Given the description of an element on the screen output the (x, y) to click on. 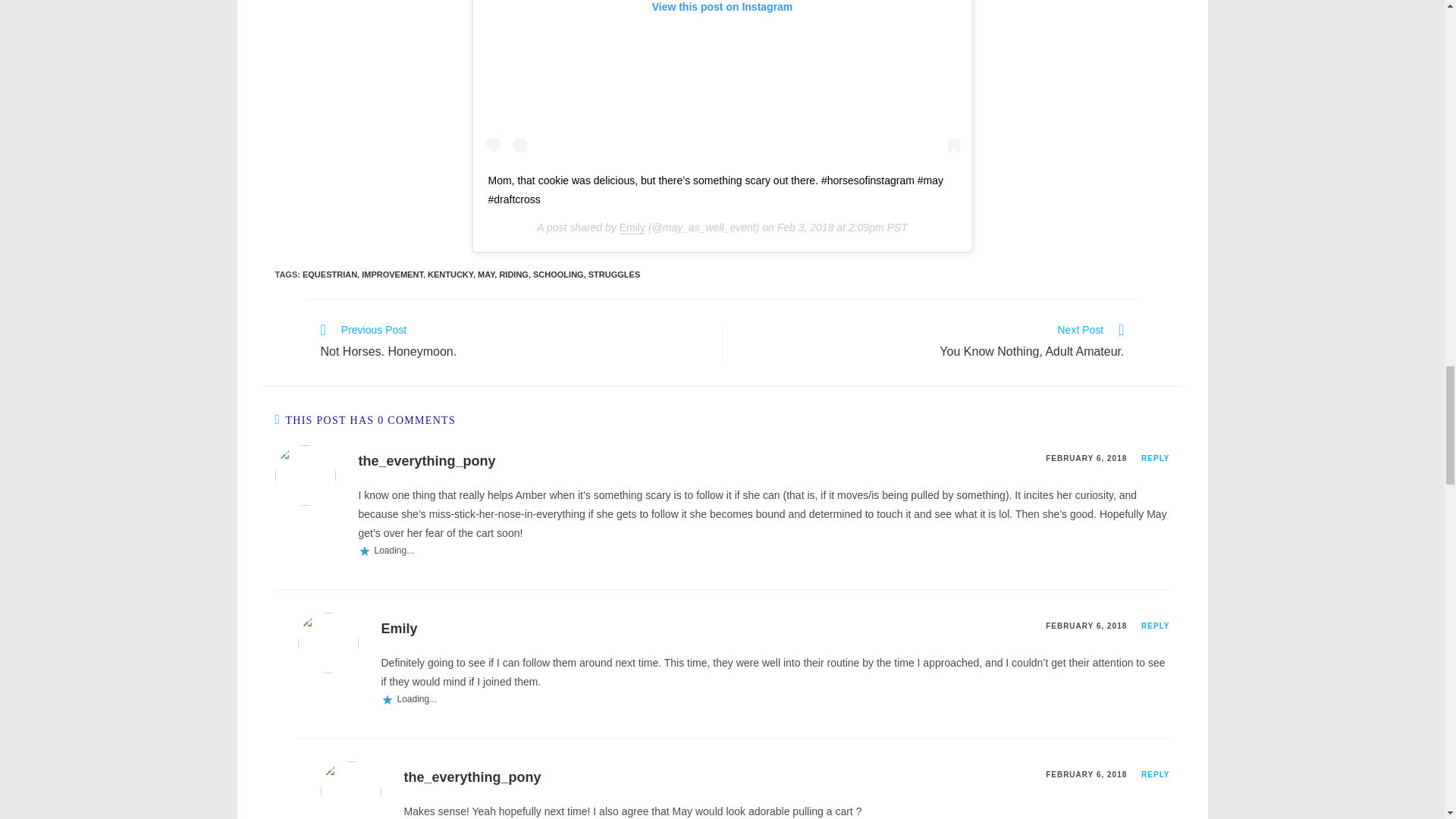
Emily (632, 227)
View this post on Instagram (721, 80)
EQUESTRIAN (329, 274)
IMPROVEMENT (392, 274)
